Given the description of an element on the screen output the (x, y) to click on. 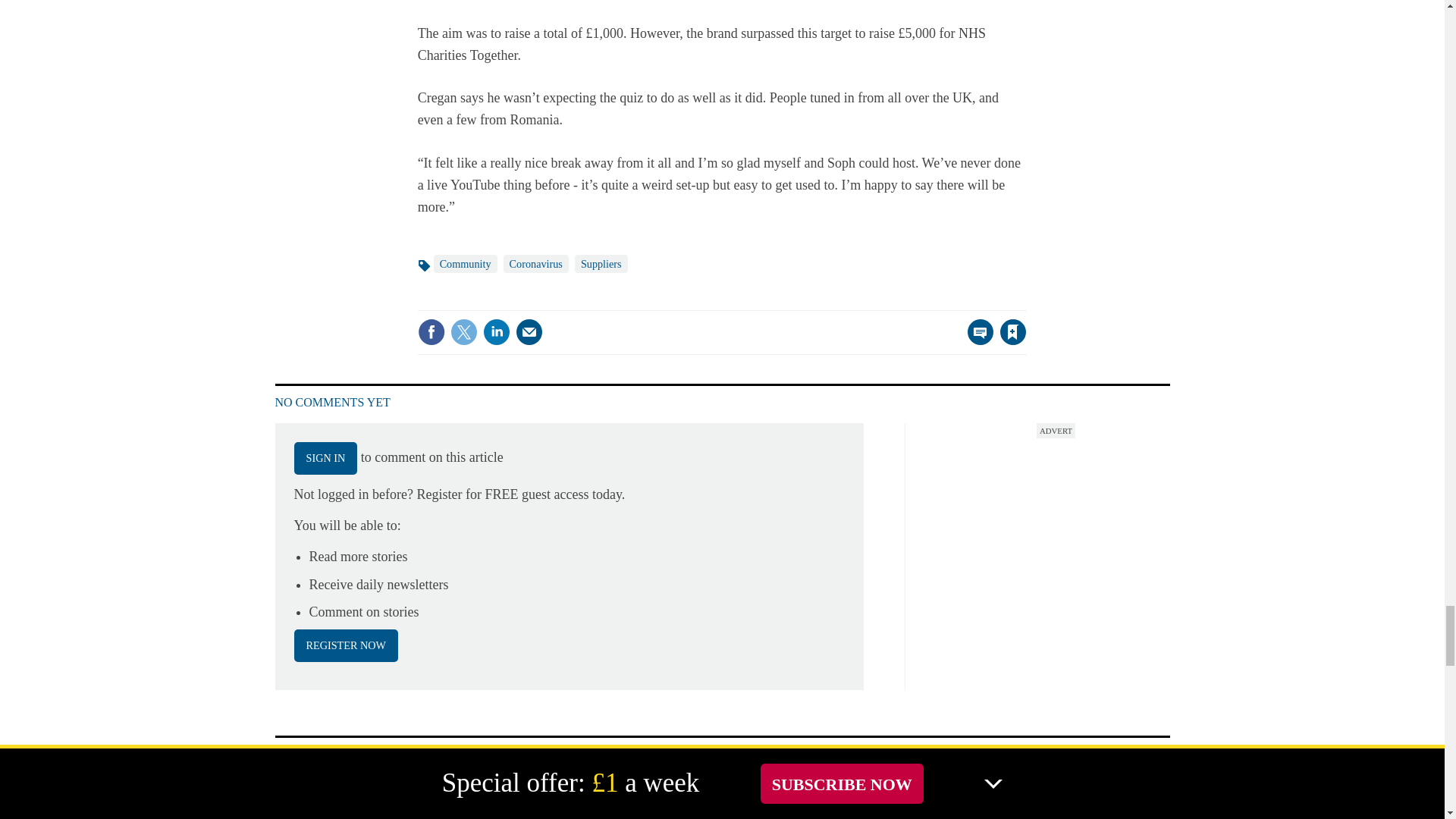
No comments (976, 340)
Email this article (529, 331)
Share this on Twitter (463, 331)
Share this on Linked in (497, 331)
Share this on Facebook (431, 331)
